Given the description of an element on the screen output the (x, y) to click on. 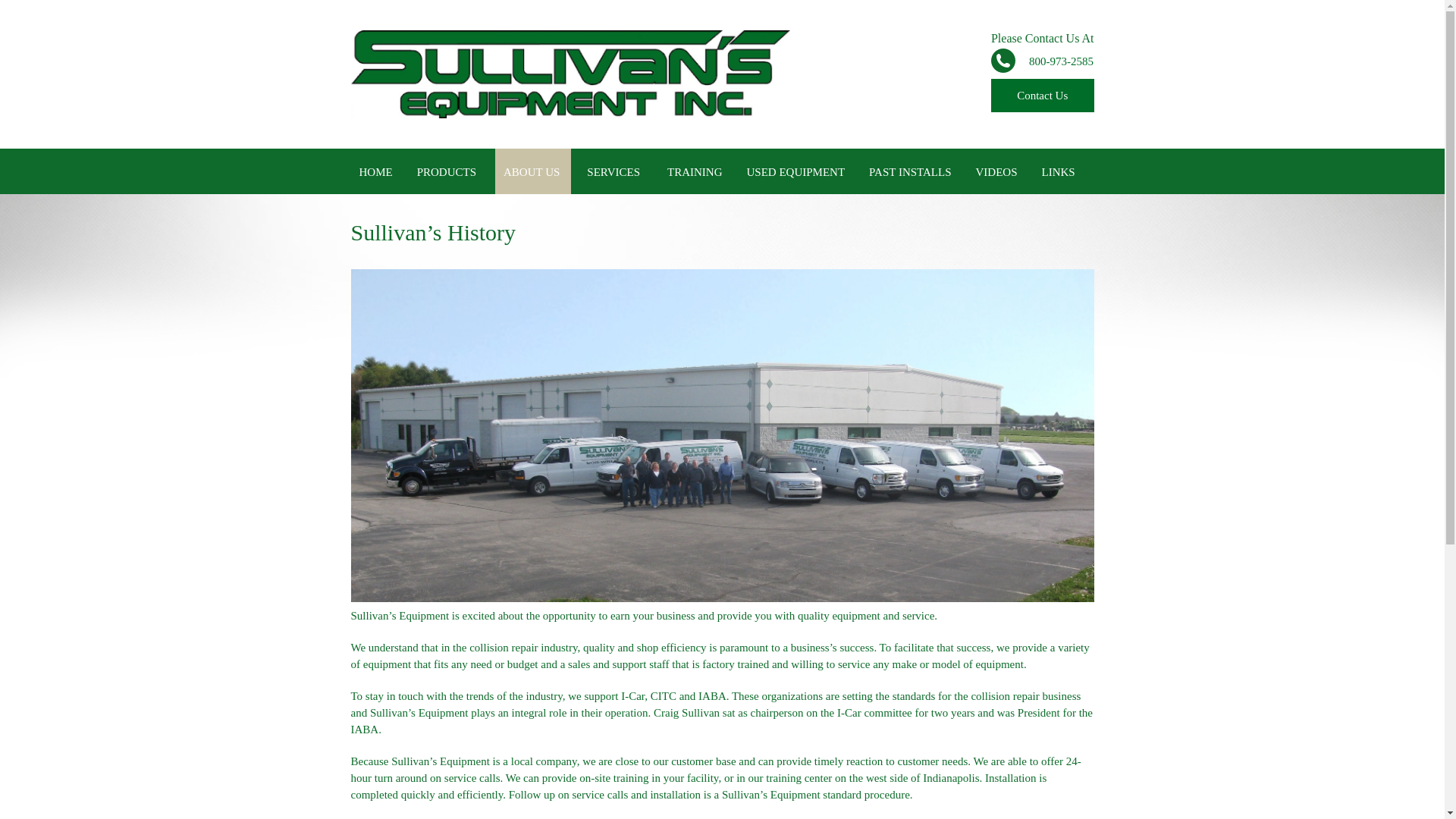
PAST INSTALLS (909, 171)
SERVICES (614, 171)
ABOUT US (532, 171)
USED EQUIPMENT (795, 171)
PRODUCTS (448, 171)
Contact Us (1042, 95)
HOME (375, 171)
LINKS (1058, 171)
TRAINING (694, 171)
VIDEOS (997, 171)
